Given the description of an element on the screen output the (x, y) to click on. 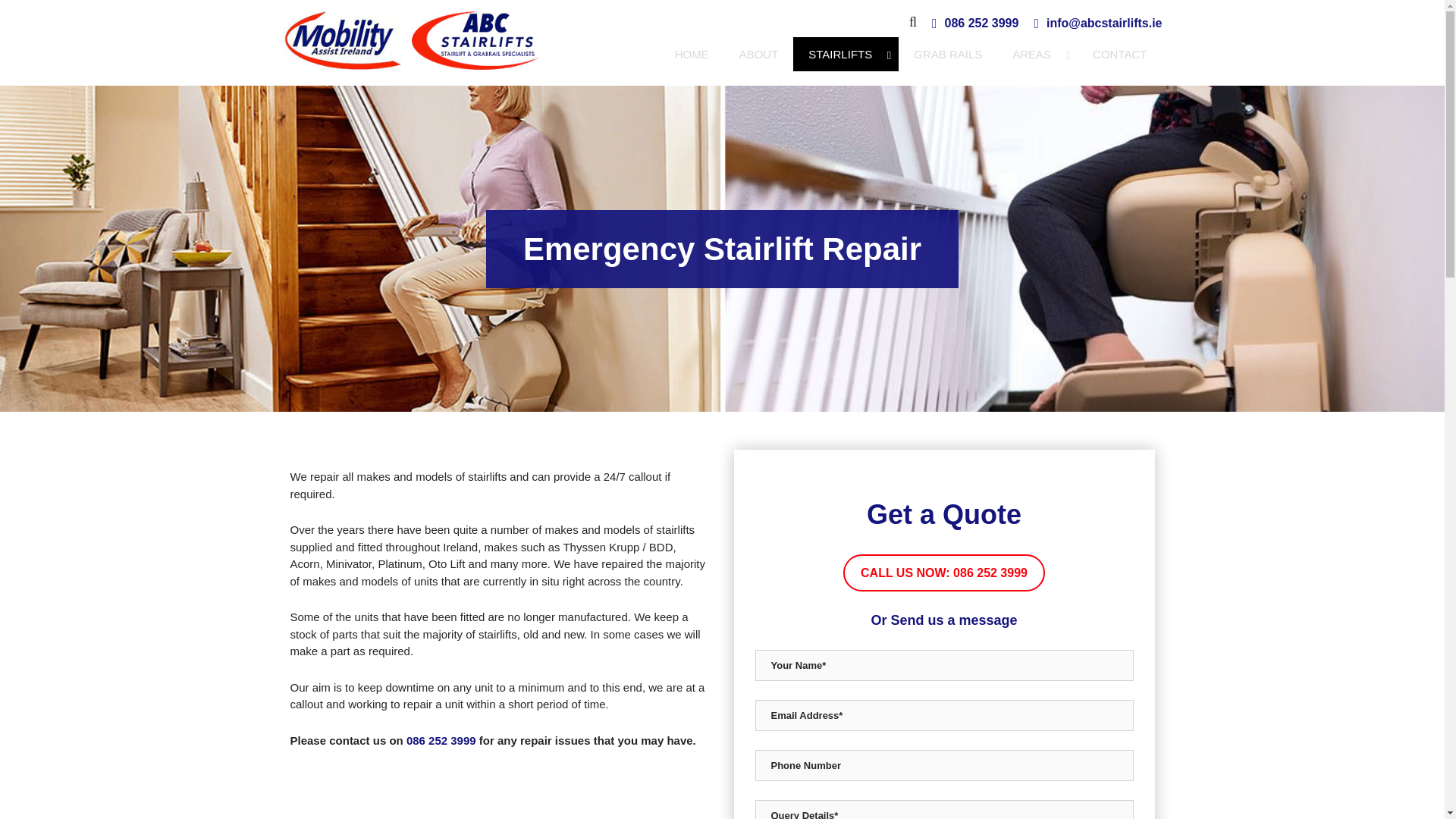
HOME (691, 54)
STAIRLIFTS (845, 54)
086 252 3999 (981, 23)
CALL US NOW: 086 252 3999 (944, 572)
AREAS (910, 54)
CONTACT (1037, 54)
ABC Stairlifts (1119, 54)
086 252 3999 (411, 40)
ABOUT (441, 739)
GRAB RAILS (758, 54)
